Given the description of an element on the screen output the (x, y) to click on. 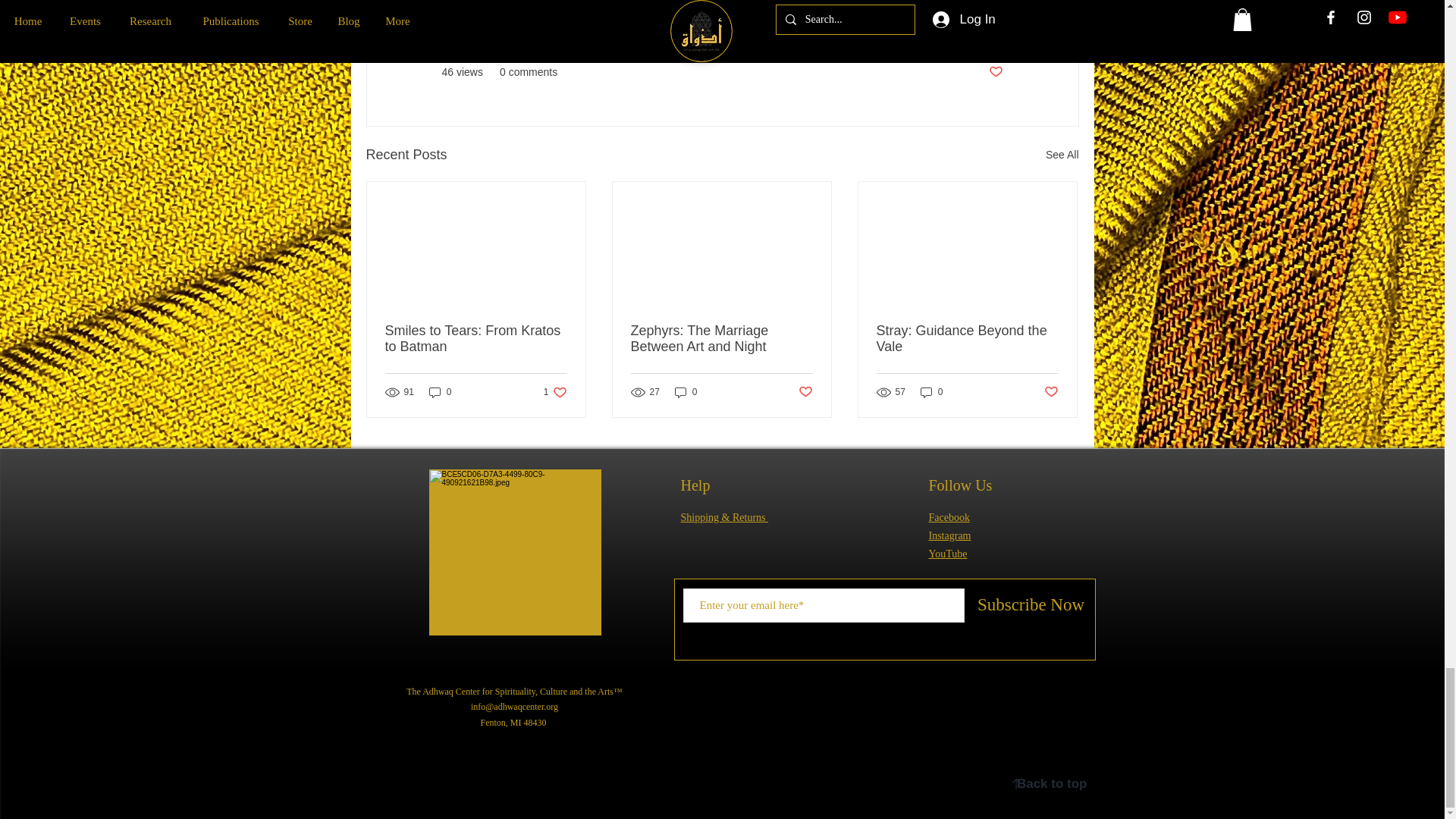
Post not marked as liked (1050, 391)
0 (440, 391)
Stray: Guidance Beyond the Vale (967, 338)
Instagram (555, 391)
See All (949, 535)
Facebook (1061, 155)
Smiles to Tears: From Kratos to Batman (948, 517)
Post not marked as liked (476, 338)
Zephyrs: The Marriage Between Art and Night (995, 72)
Post not marked as liked (721, 338)
0 (804, 391)
0 (931, 391)
